Given the description of an element on the screen output the (x, y) to click on. 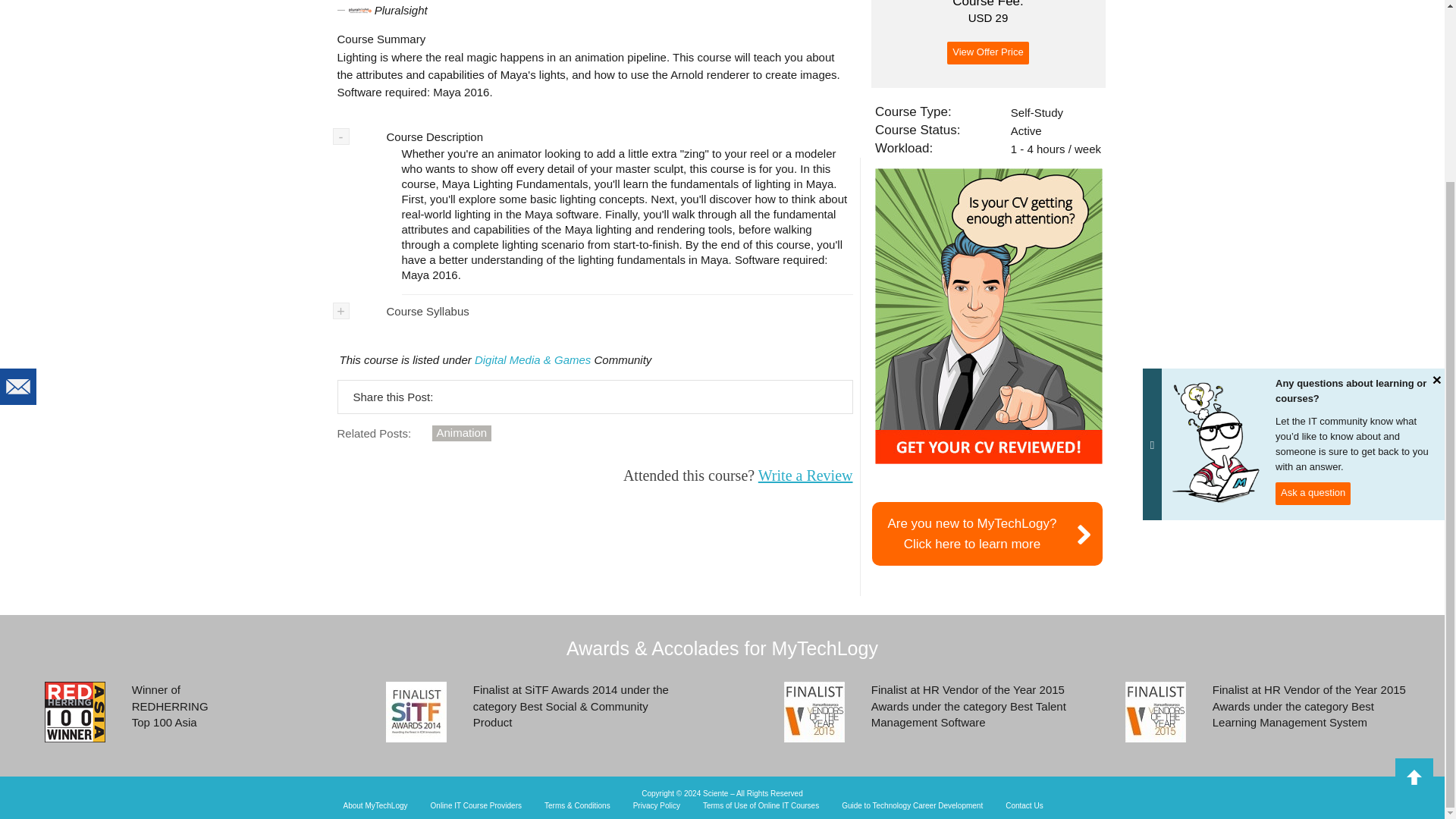
Animation (462, 433)
Contact Us (987, 533)
View Offer Price (1024, 805)
Privacy Policy (987, 52)
View Offer Price (656, 805)
Winner of REDHERRING Top 100 Asia (987, 52)
Online IT Course Providers (74, 711)
About MyTechLogy (475, 805)
Ask a question (374, 805)
Guide to Technology Career Development (1313, 269)
Terms of Use of Online IT Courses (911, 805)
Write a Review (760, 805)
